Given the description of an element on the screen output the (x, y) to click on. 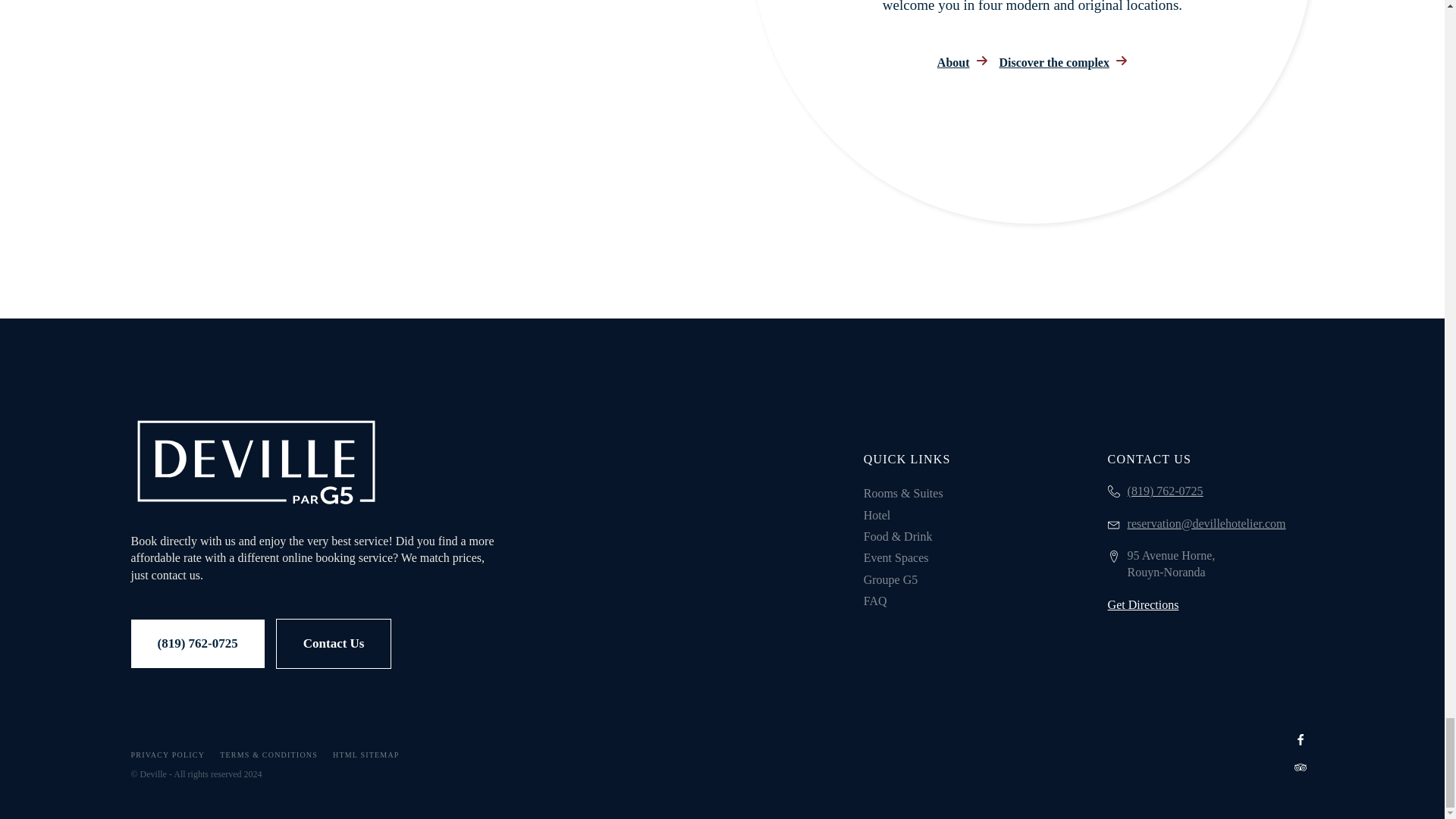
Discover the complex (1062, 62)
Contact Us (333, 644)
About (962, 62)
Hotel (903, 515)
Event Spaces (903, 557)
